Given the description of an element on the screen output the (x, y) to click on. 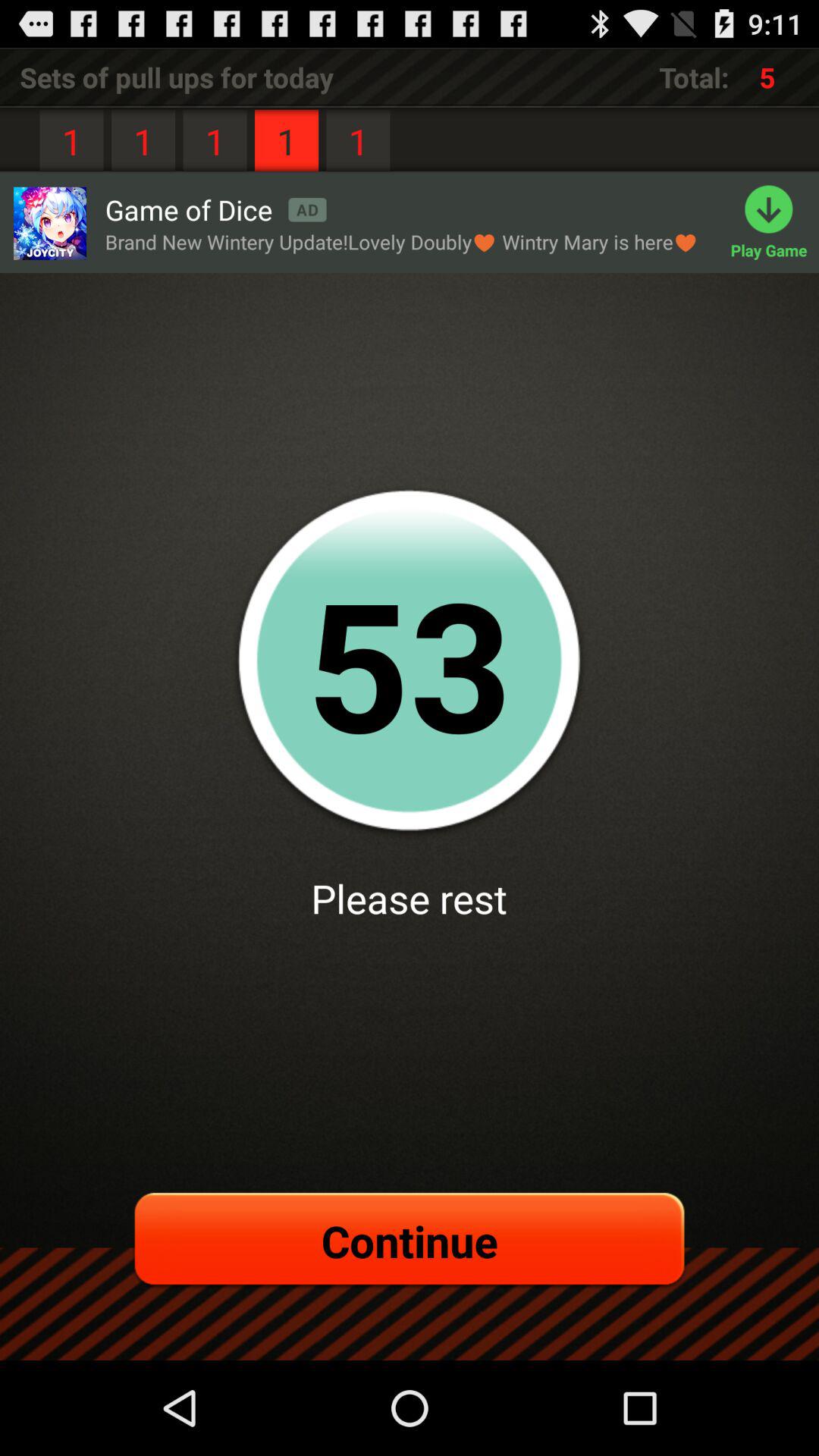
turn on the icon to the left of the game of dice icon (49, 222)
